Given the description of an element on the screen output the (x, y) to click on. 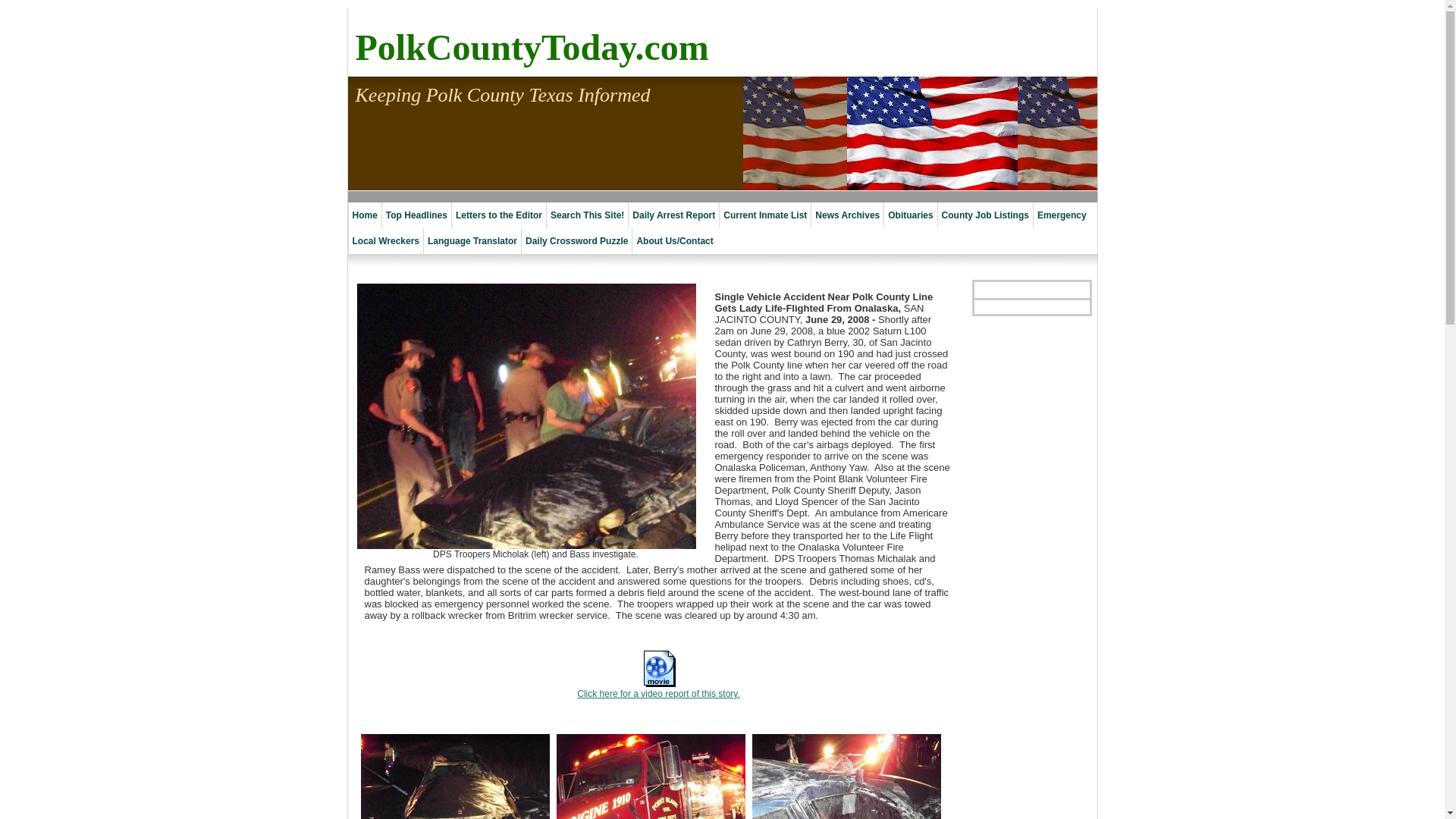
Local Wreckers (385, 240)
Search This Site! (586, 215)
Click here for a video report of this story. (657, 693)
Current Inmate List (764, 215)
Language Translator (472, 240)
Emergency (1061, 215)
Daily Crossword Puzzle (576, 240)
County Job Listings (984, 215)
Letters to the Editor (498, 215)
Obituaries (909, 215)
Home (363, 215)
News Archives (846, 215)
Daily Arrest Report (673, 215)
Top Headlines (416, 215)
